Given the description of an element on the screen output the (x, y) to click on. 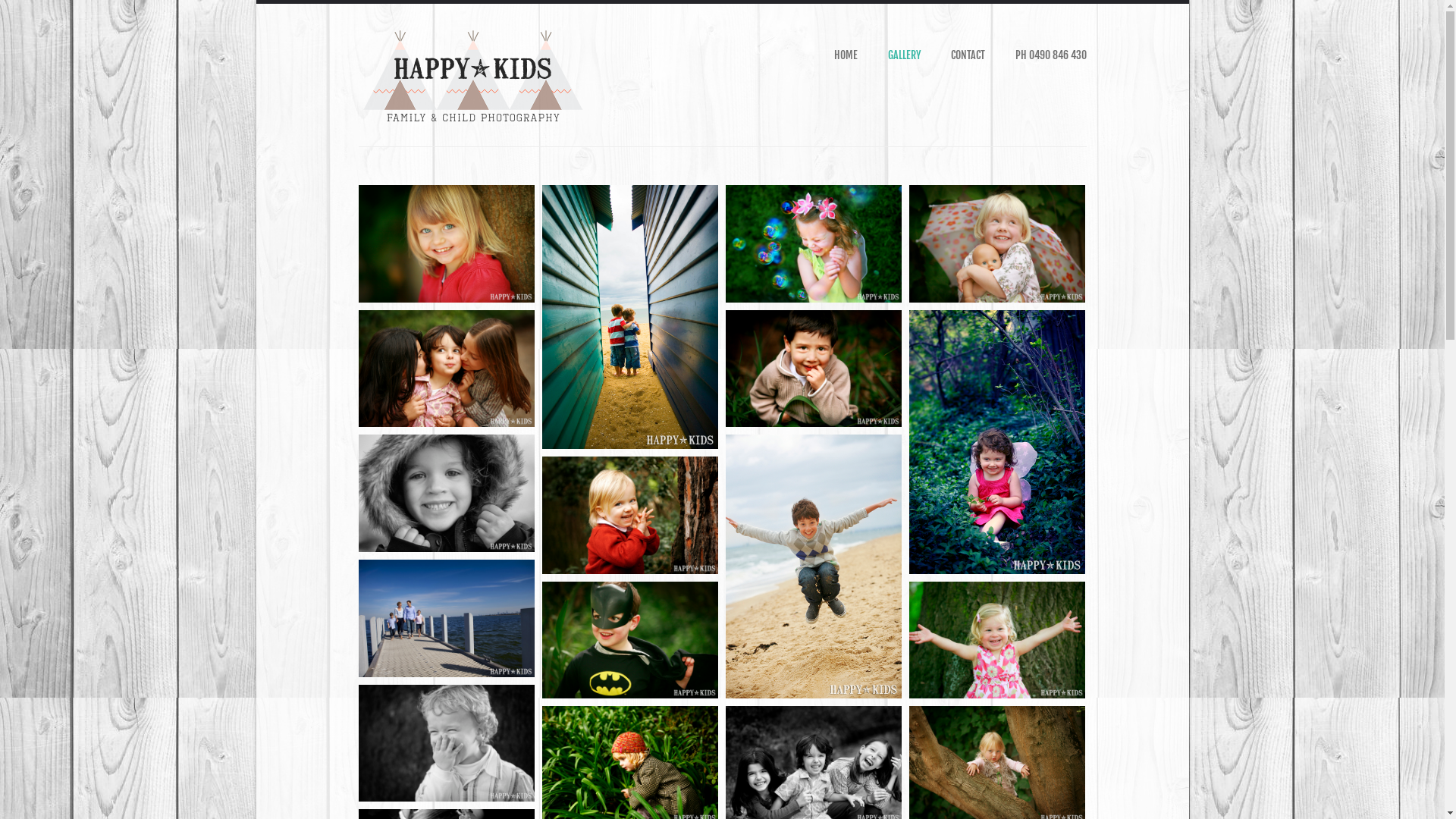
PH 0490 846 430 Element type: text (1049, 54)
GALLERY Element type: text (903, 54)
CONTACT Element type: text (967, 54)
HOME Element type: text (845, 54)
